Given the description of an element on the screen output the (x, y) to click on. 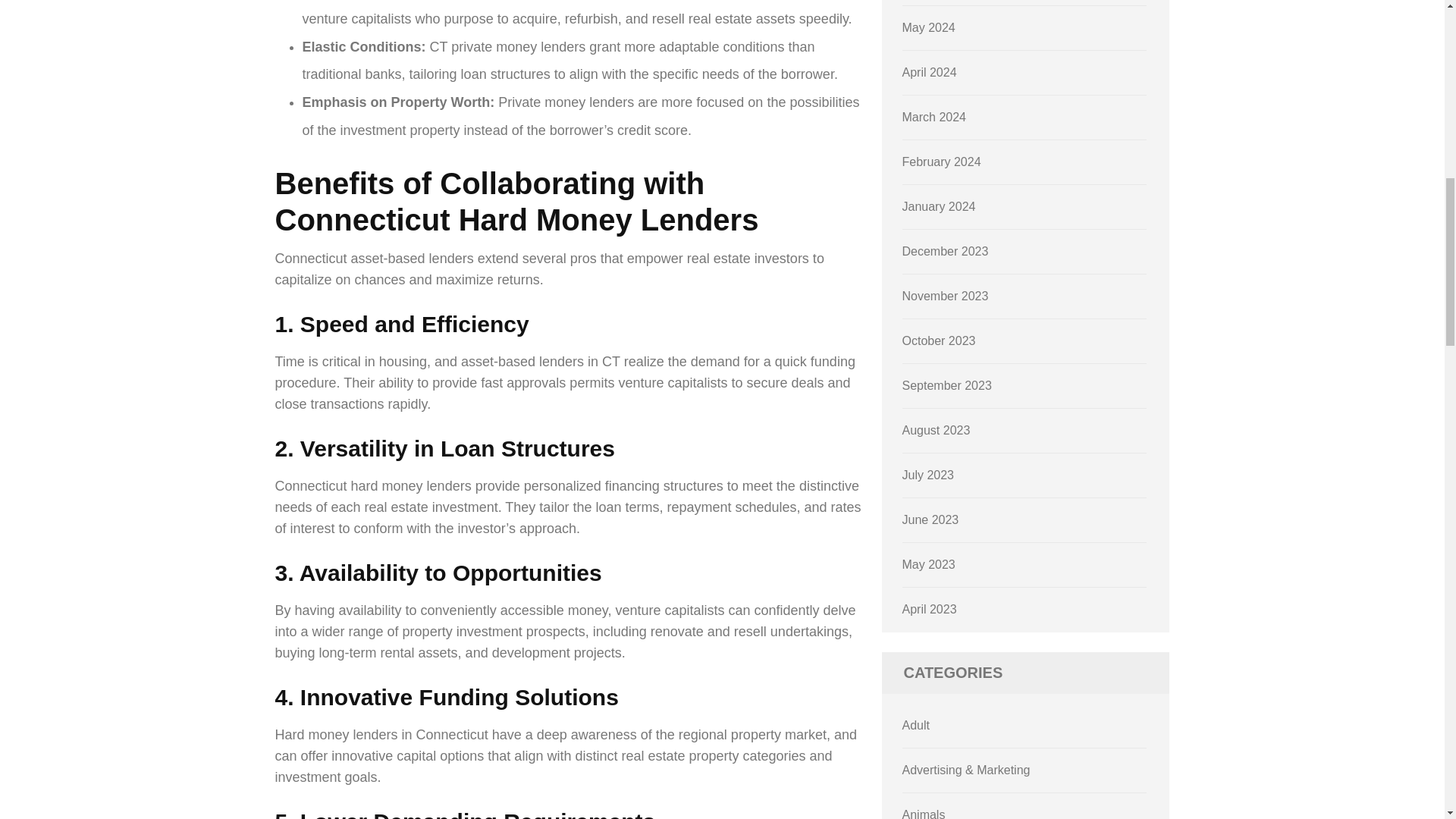
March 2024 (934, 116)
May 2024 (928, 27)
January 2024 (938, 205)
August 2023 (936, 430)
November 2023 (945, 295)
February 2024 (941, 161)
April 2024 (929, 72)
May 2023 (928, 563)
December 2023 (945, 250)
Adult (916, 725)
